Given the description of an element on the screen output the (x, y) to click on. 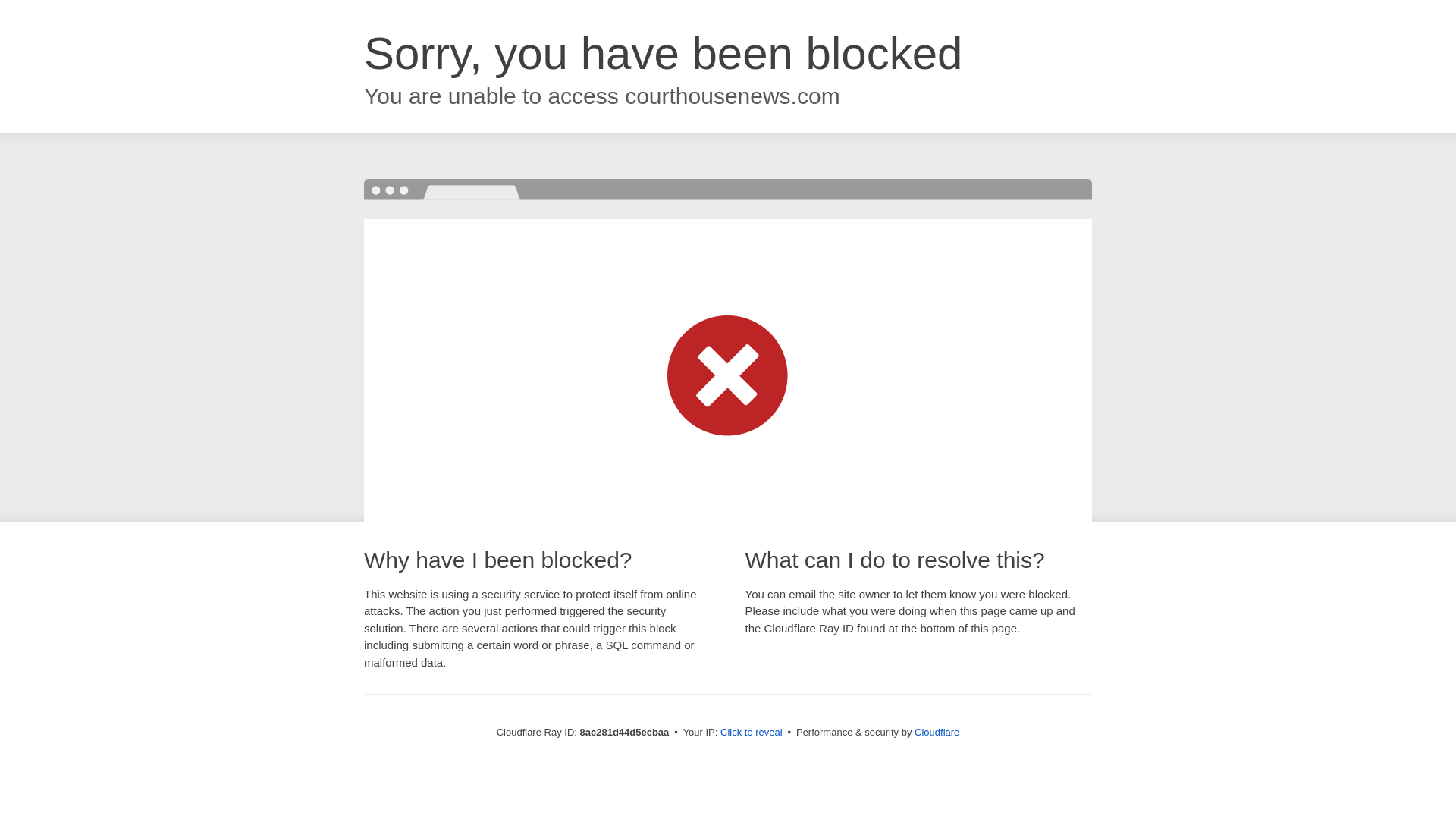
Cloudflare (936, 731)
Click to reveal (751, 732)
